Given the description of an element on the screen output the (x, y) to click on. 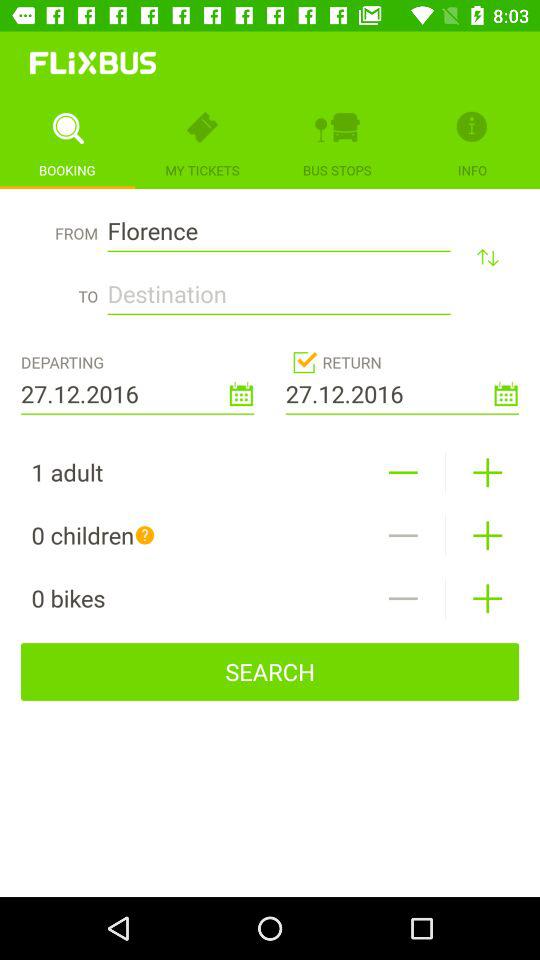
minus one adult in booking (402, 472)
